Given the description of an element on the screen output the (x, y) to click on. 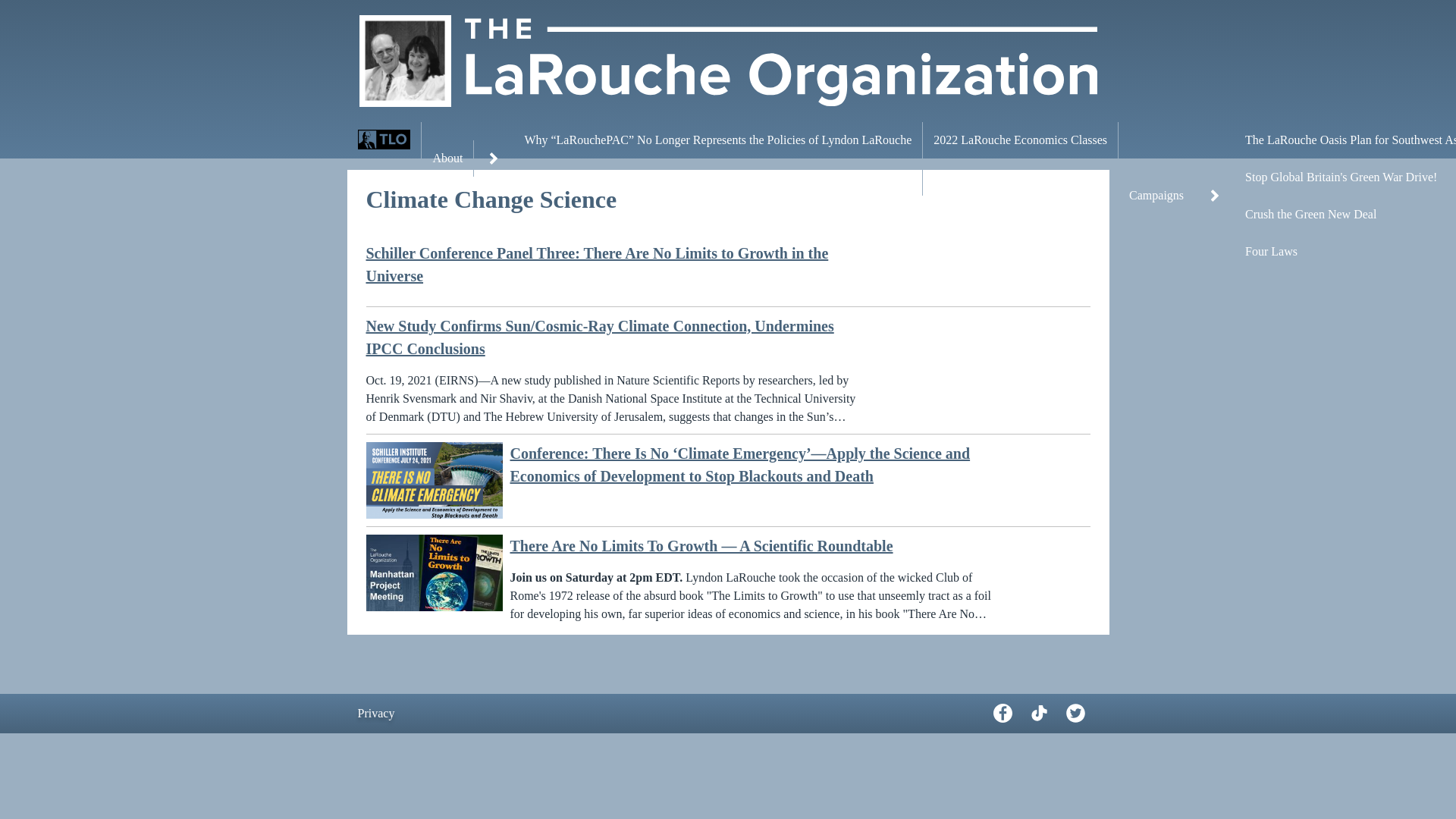
About (447, 158)
2022 LaRouche Economics Classes (1020, 140)
Campaigns (1155, 195)
Intro to LaRouche: Class Series (717, 176)
